Given the description of an element on the screen output the (x, y) to click on. 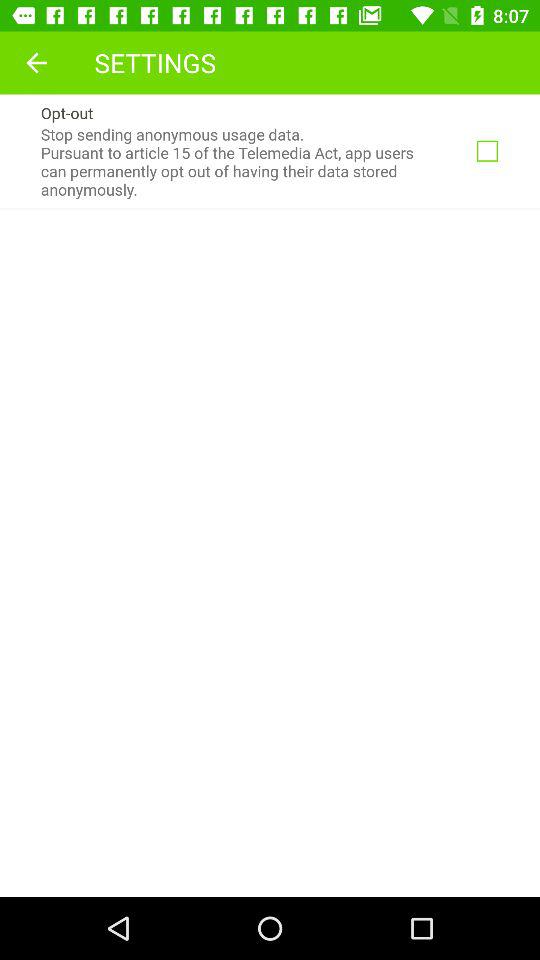
select the icon to the left of the settings item (36, 62)
